Given the description of an element on the screen output the (x, y) to click on. 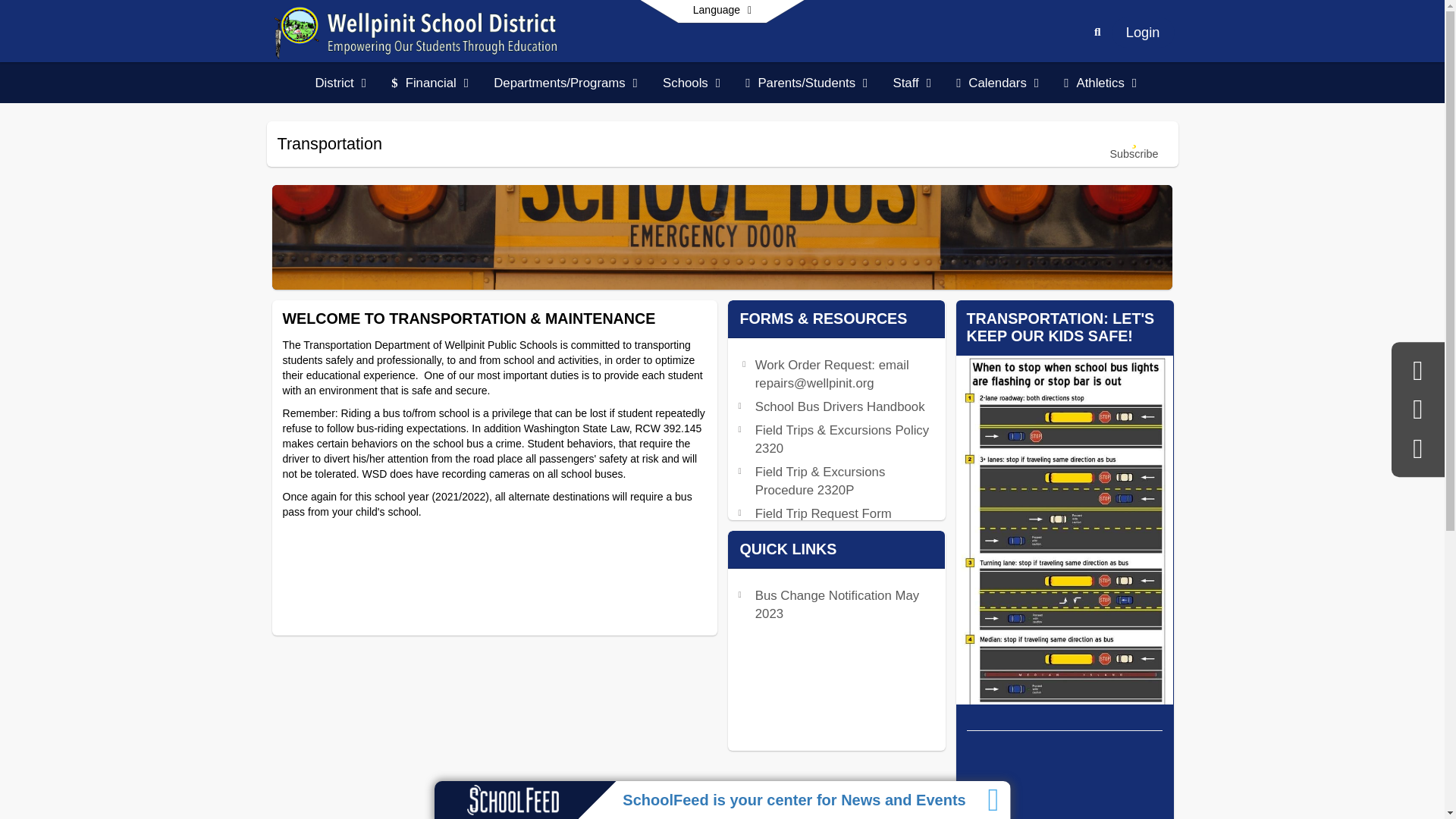
Calendars (998, 83)
Financial (430, 83)
Staff (912, 83)
Athletics (1101, 83)
Subscribe (1133, 143)
Login (1143, 32)
Schools (692, 83)
School Bus Drivers Handbook (839, 406)
Wellpinit School District (417, 31)
back of school bus (721, 237)
District (341, 83)
Subscribe to Organization (1133, 143)
Language (721, 11)
Emergency Bus Routes (821, 536)
Field Trip Request Form (823, 513)
